Given the description of an element on the screen output the (x, y) to click on. 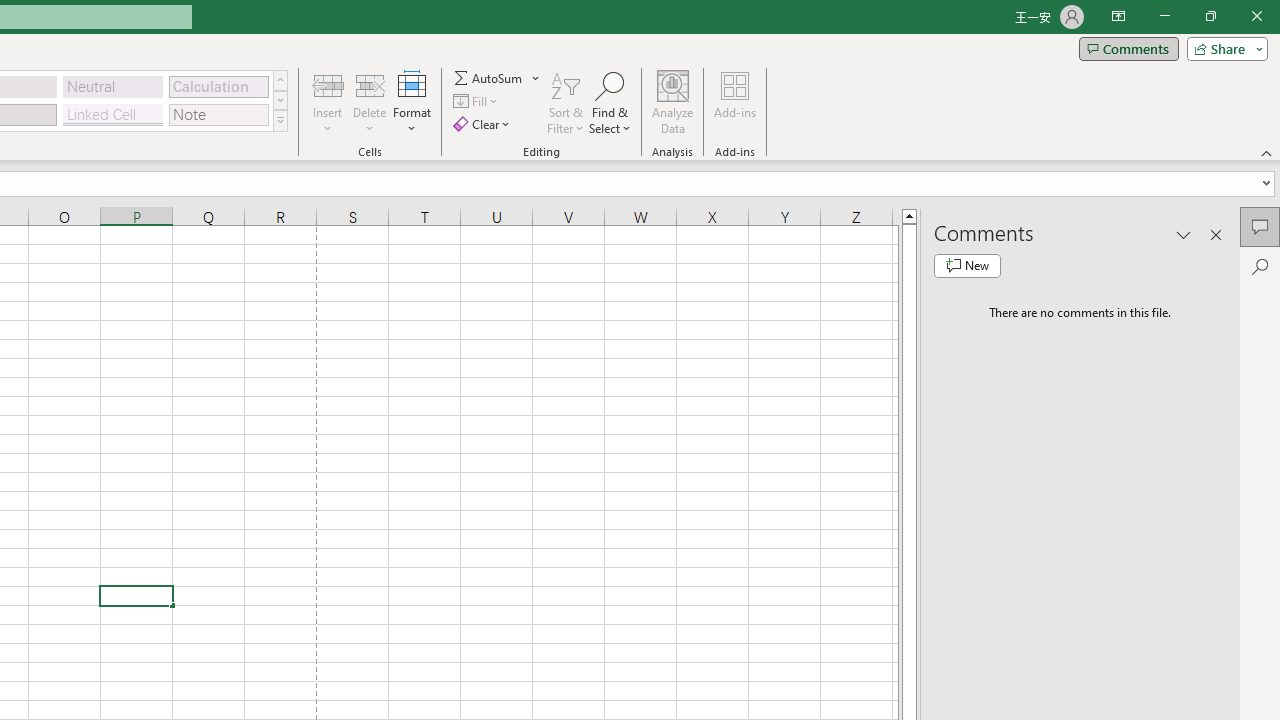
Clear (483, 124)
Search (1260, 266)
Calculation (218, 86)
Linked Cell (113, 114)
Neutral (113, 86)
Task Pane Options (1183, 234)
Sum (489, 78)
Format (411, 102)
Row up (280, 79)
